Given the description of an element on the screen output the (x, y) to click on. 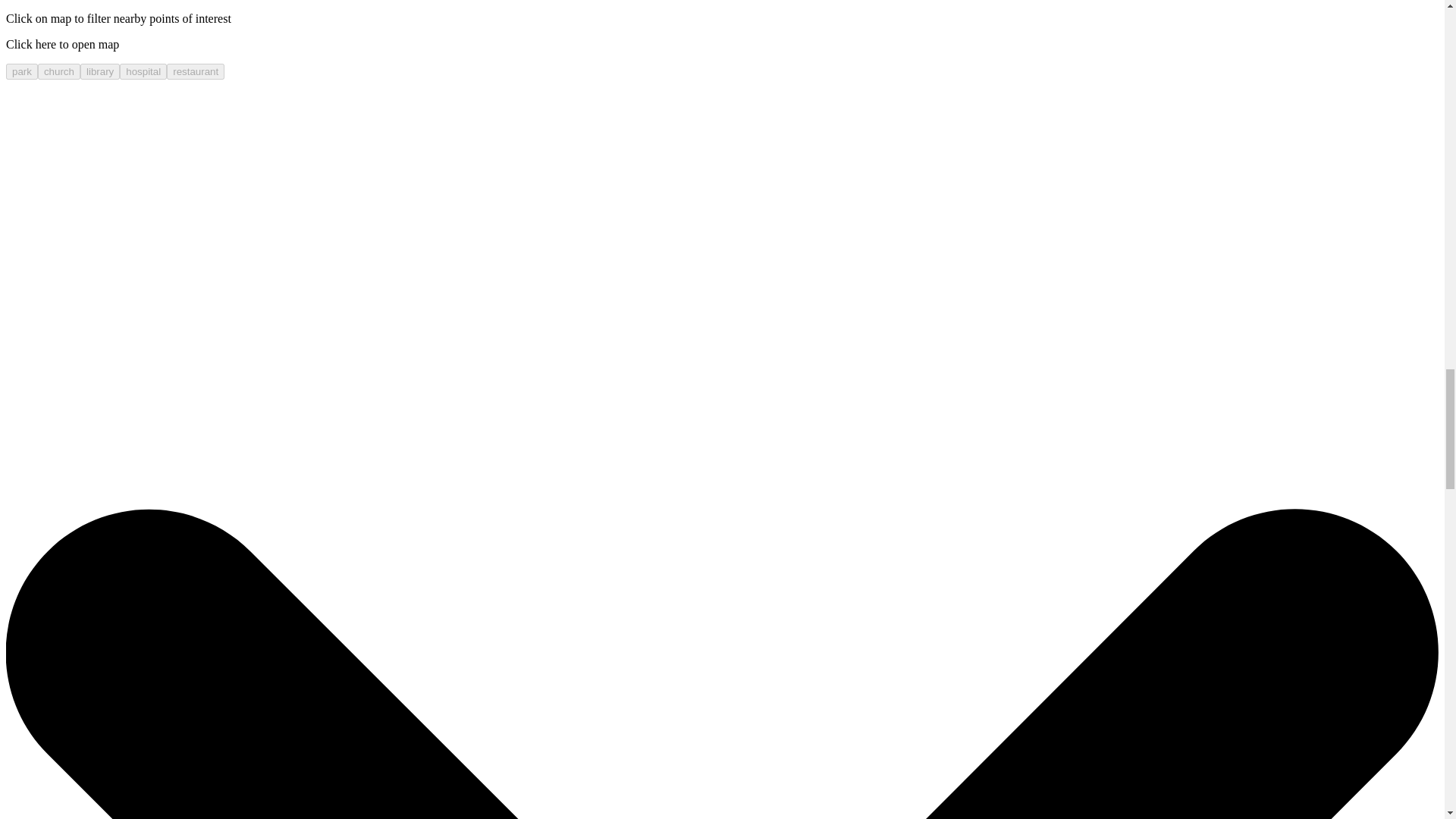
hospital (143, 71)
park (21, 71)
church (58, 71)
restaurant (195, 71)
library (99, 71)
